Given the description of an element on the screen output the (x, y) to click on. 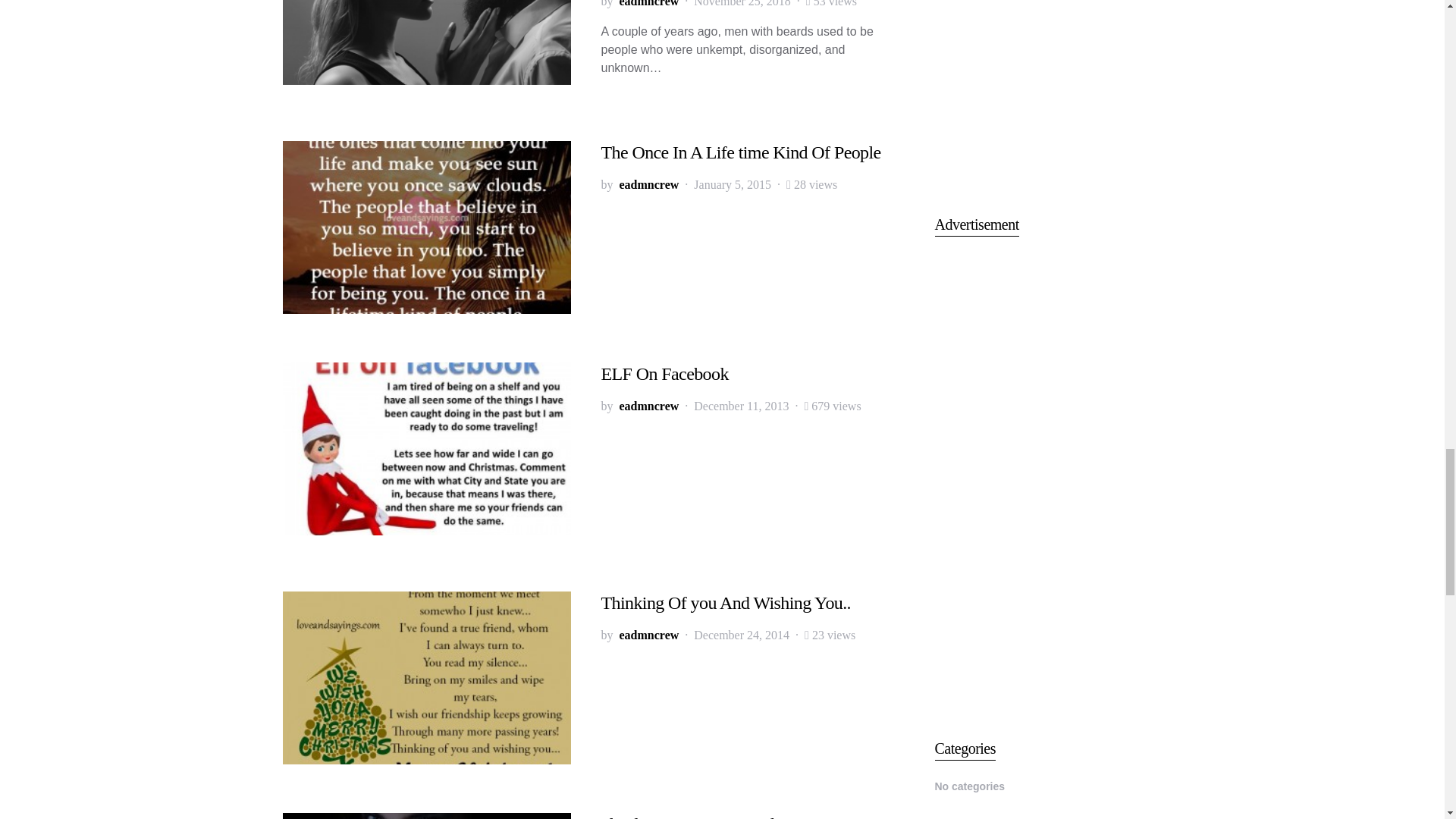
View all posts by eadmncrew (648, 635)
eadmncrew (648, 185)
View all posts by eadmncrew (648, 406)
View all posts by eadmncrew (648, 185)
The Once In A Life time Kind Of People (739, 152)
eadmncrew (648, 5)
View all posts by eadmncrew (648, 5)
